Given the description of an element on the screen output the (x, y) to click on. 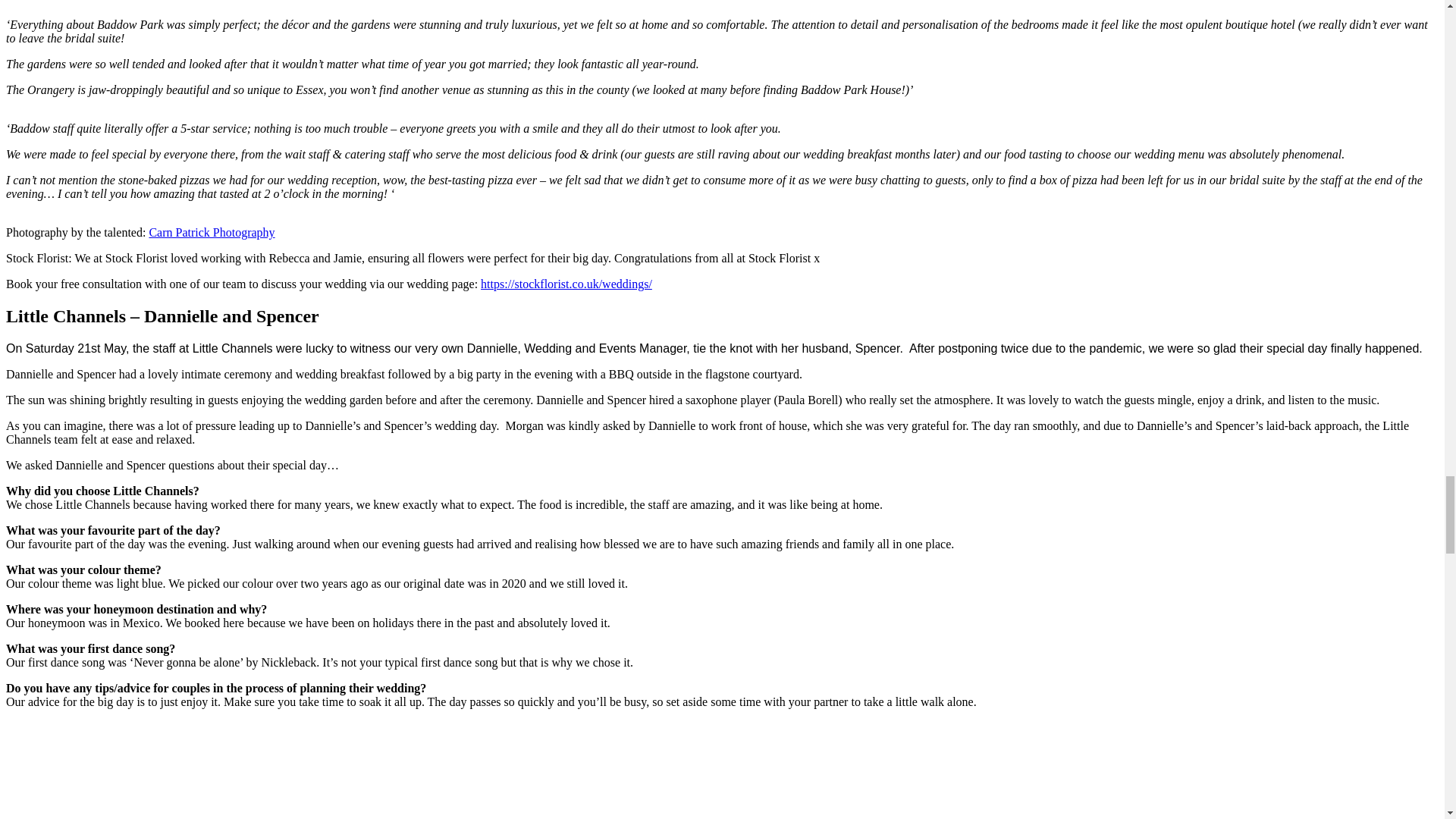
Carn Patrick Photography (211, 232)
